Given the description of an element on the screen output the (x, y) to click on. 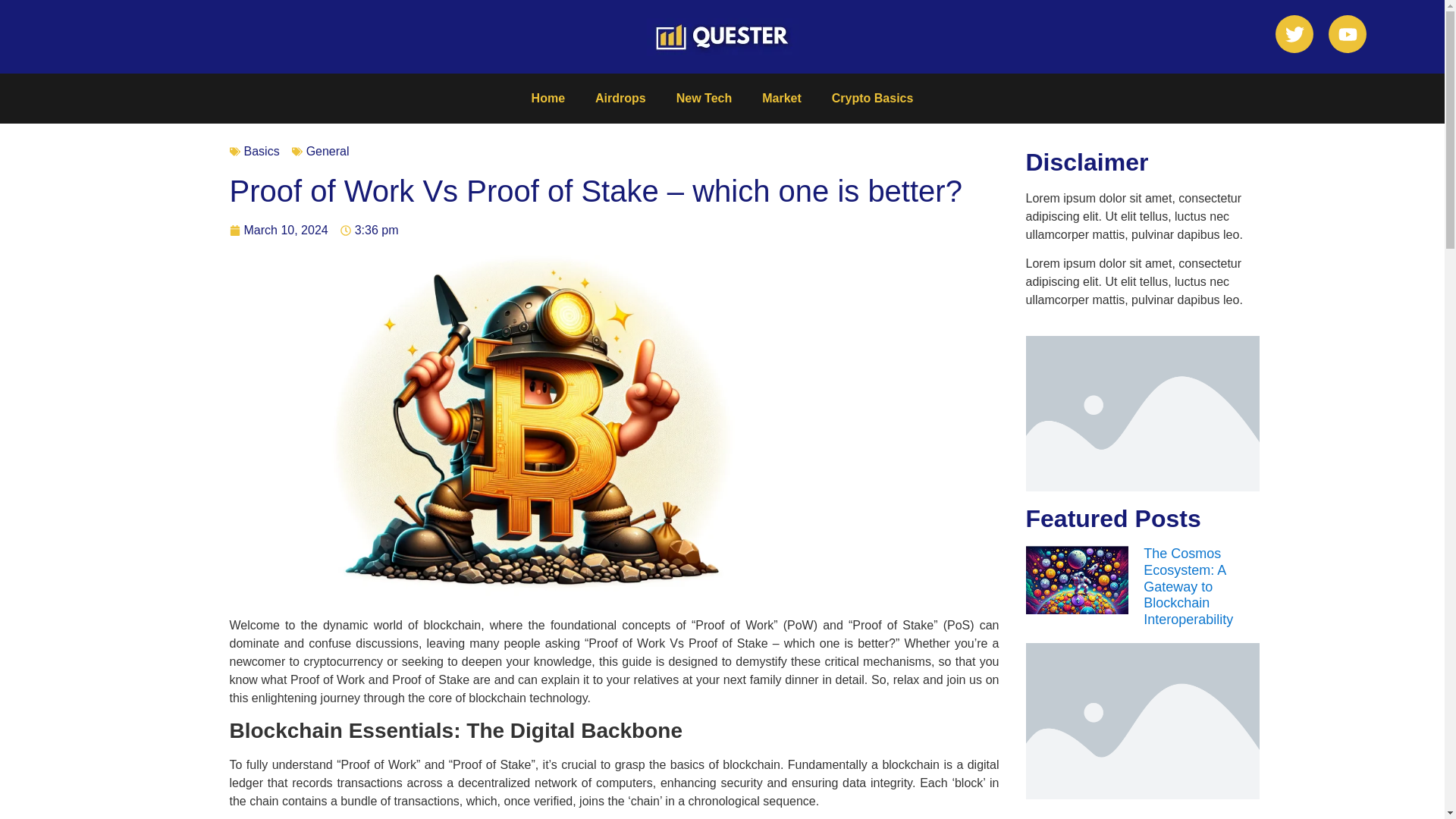
New Tech (704, 98)
General (327, 151)
Home (547, 98)
Crypto Basics (872, 98)
March 10, 2024 (277, 230)
Market (781, 98)
Airdrops (620, 98)
Basics (261, 151)
